Given the description of an element on the screen output the (x, y) to click on. 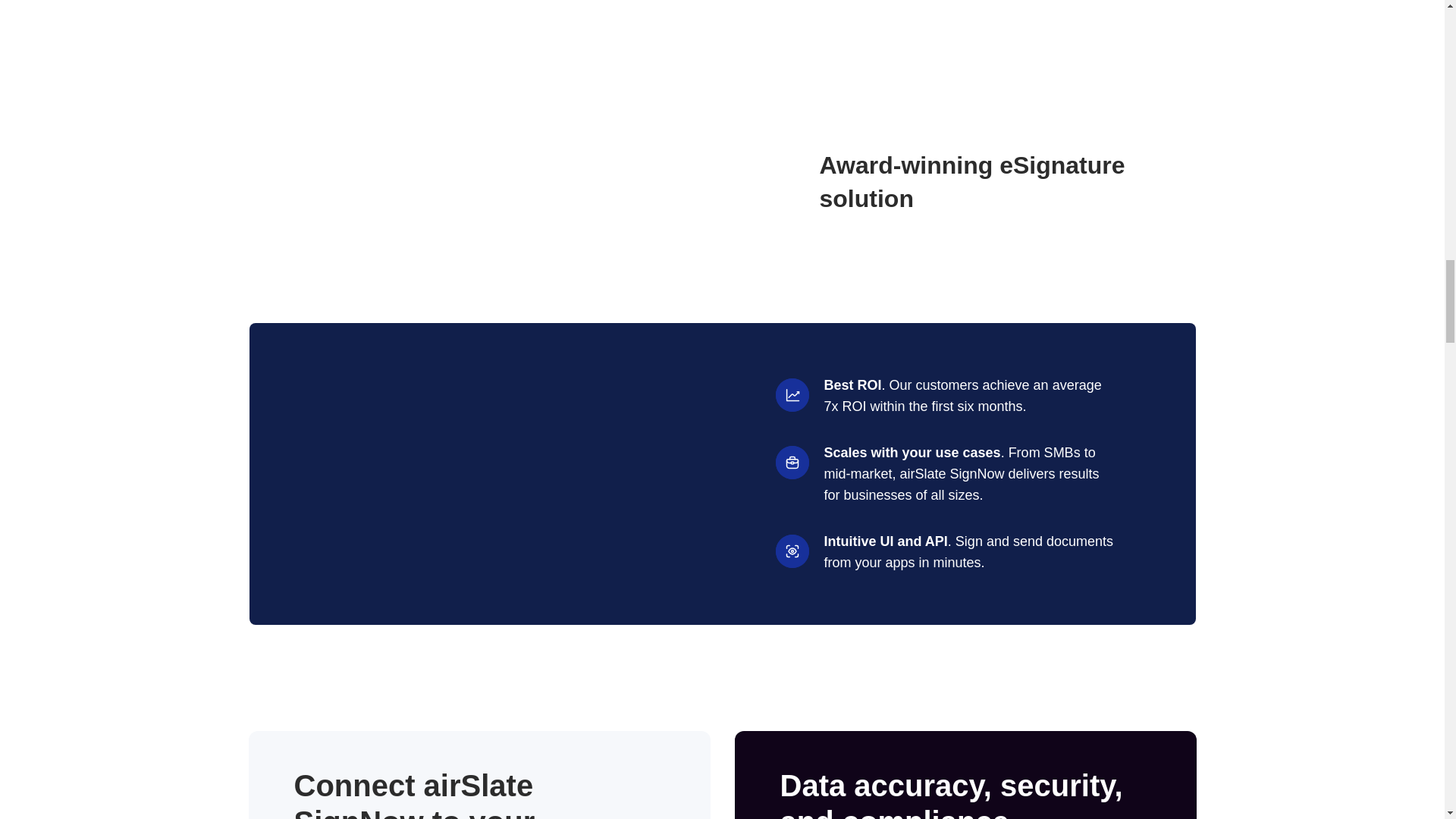
Small Business Summer 2024 (690, 181)
Leader Summer 2024 (558, 181)
Mid Market Summer 2024 (292, 181)
Best Support Summer 2024 (425, 181)
